Given the description of an element on the screen output the (x, y) to click on. 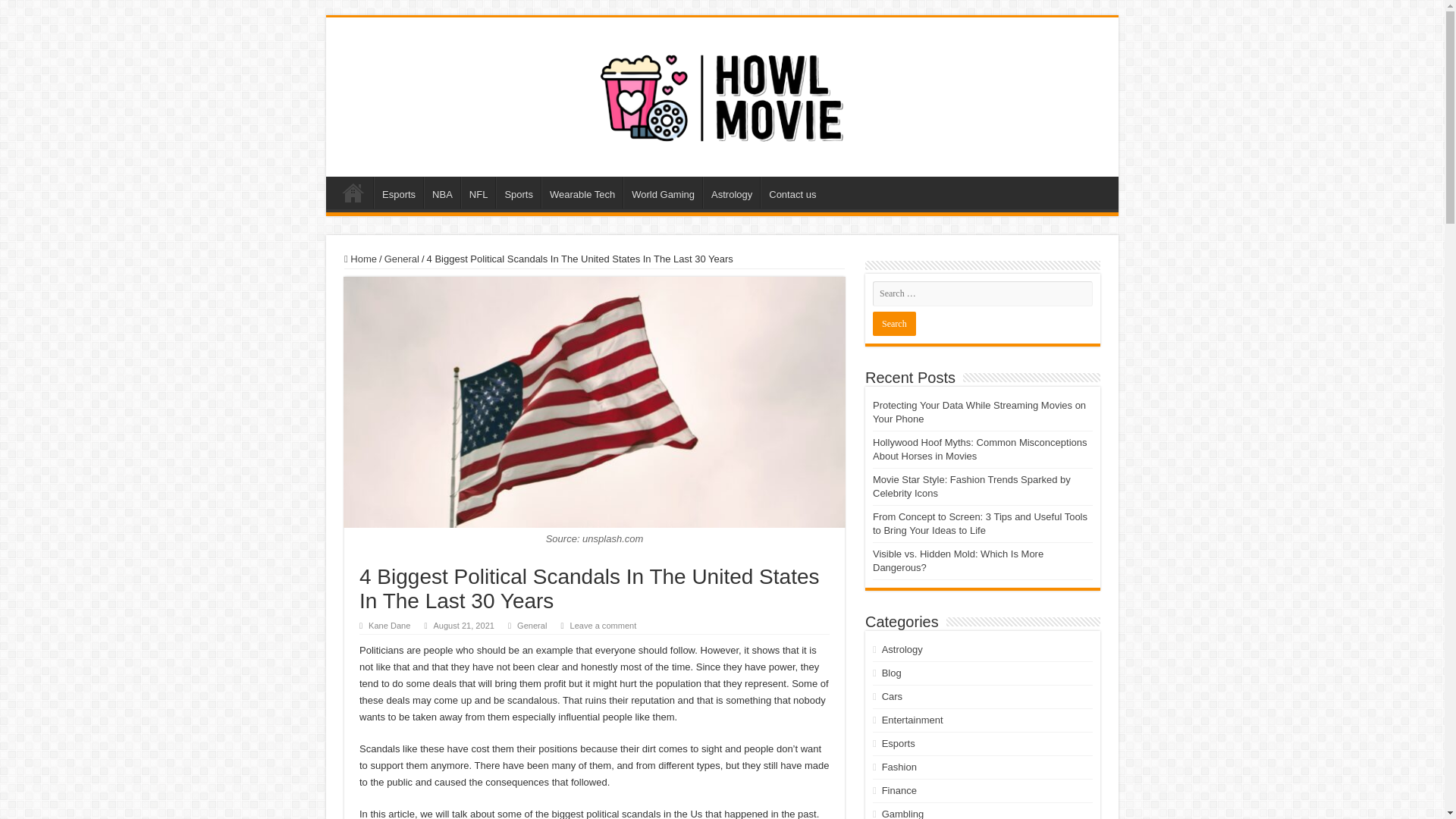
Sports (518, 192)
Protecting Your Data While Streaming Movies on Your Phone (979, 412)
General (401, 258)
Home (360, 258)
Howl Movie (721, 94)
NFL (478, 192)
Astrology (731, 192)
Search (893, 323)
Contact us (792, 192)
Wearable Tech (582, 192)
Kane Dane (389, 624)
Movie Star Style: Fashion Trends Sparked by Celebrity Icons (971, 486)
General (531, 624)
Search (893, 323)
Leave a comment (602, 624)
